Given the description of an element on the screen output the (x, y) to click on. 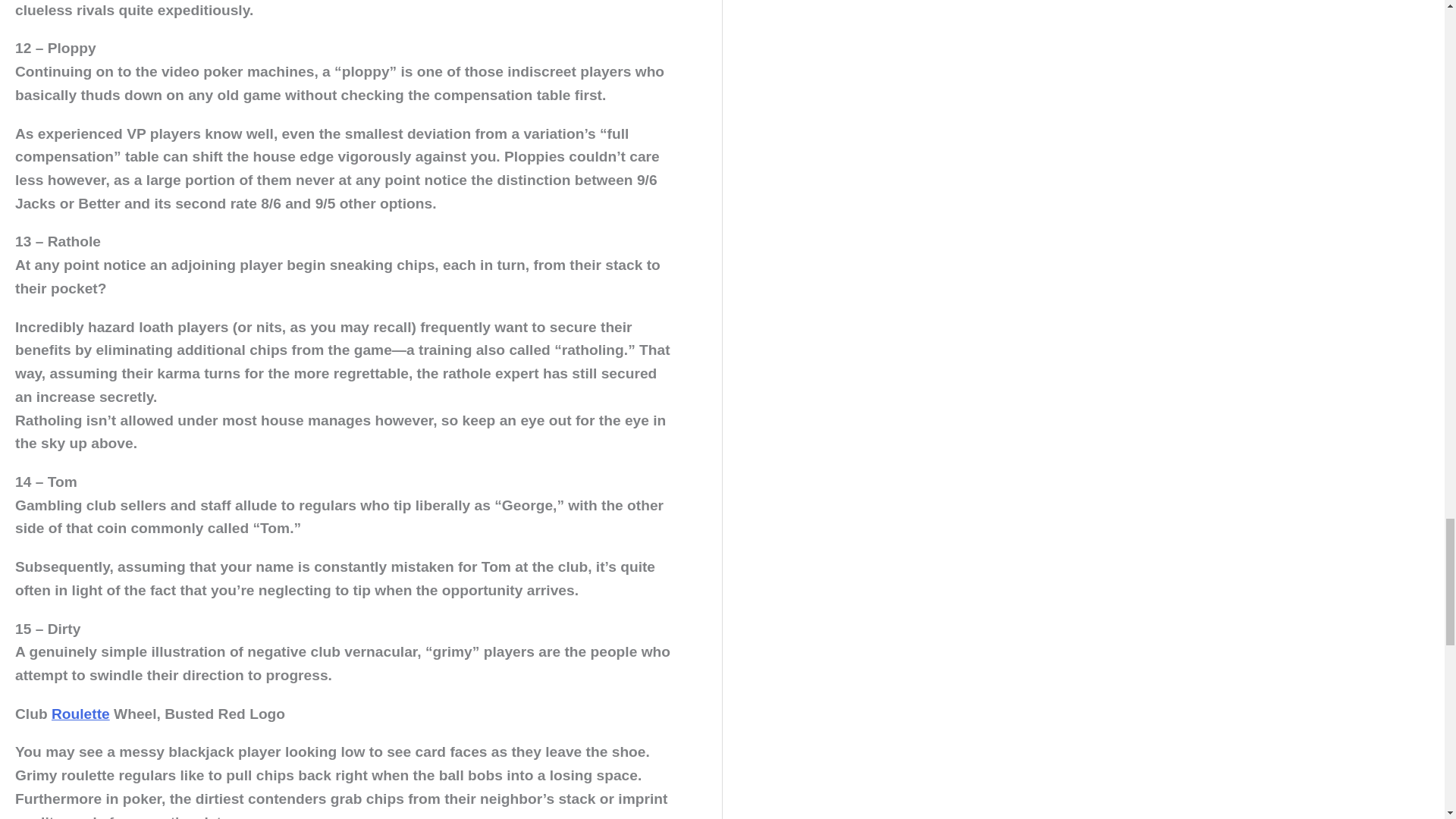
Roulette (80, 713)
